Given the description of an element on the screen output the (x, y) to click on. 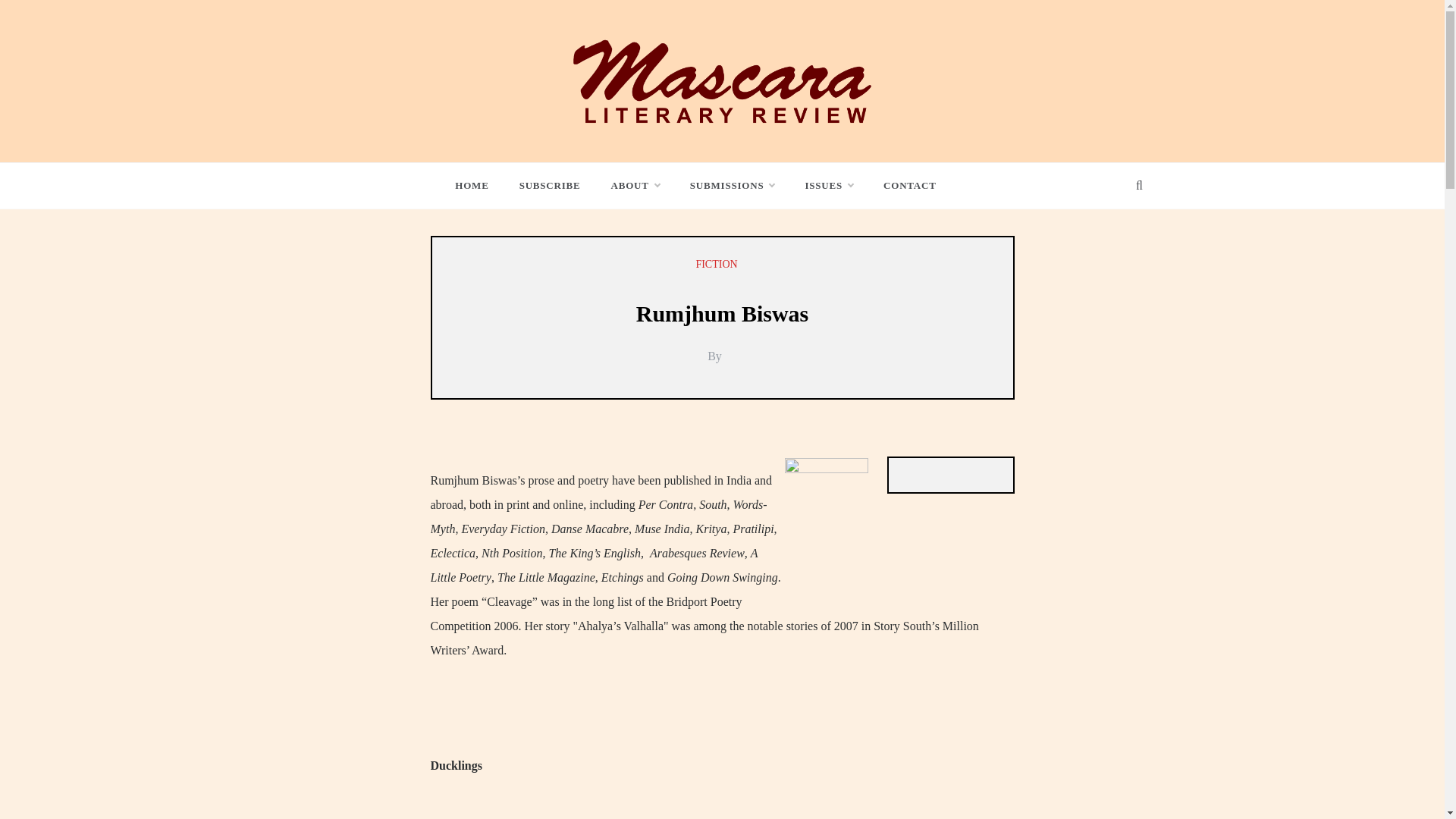
FICTION (718, 264)
SUBMISSIONS (732, 185)
SUBSCRIBE (549, 185)
HOME (478, 185)
Mascara Literary Review (681, 136)
ISSUES (828, 185)
CONTACT (901, 185)
ABOUT (635, 185)
